Given the description of an element on the screen output the (x, y) to click on. 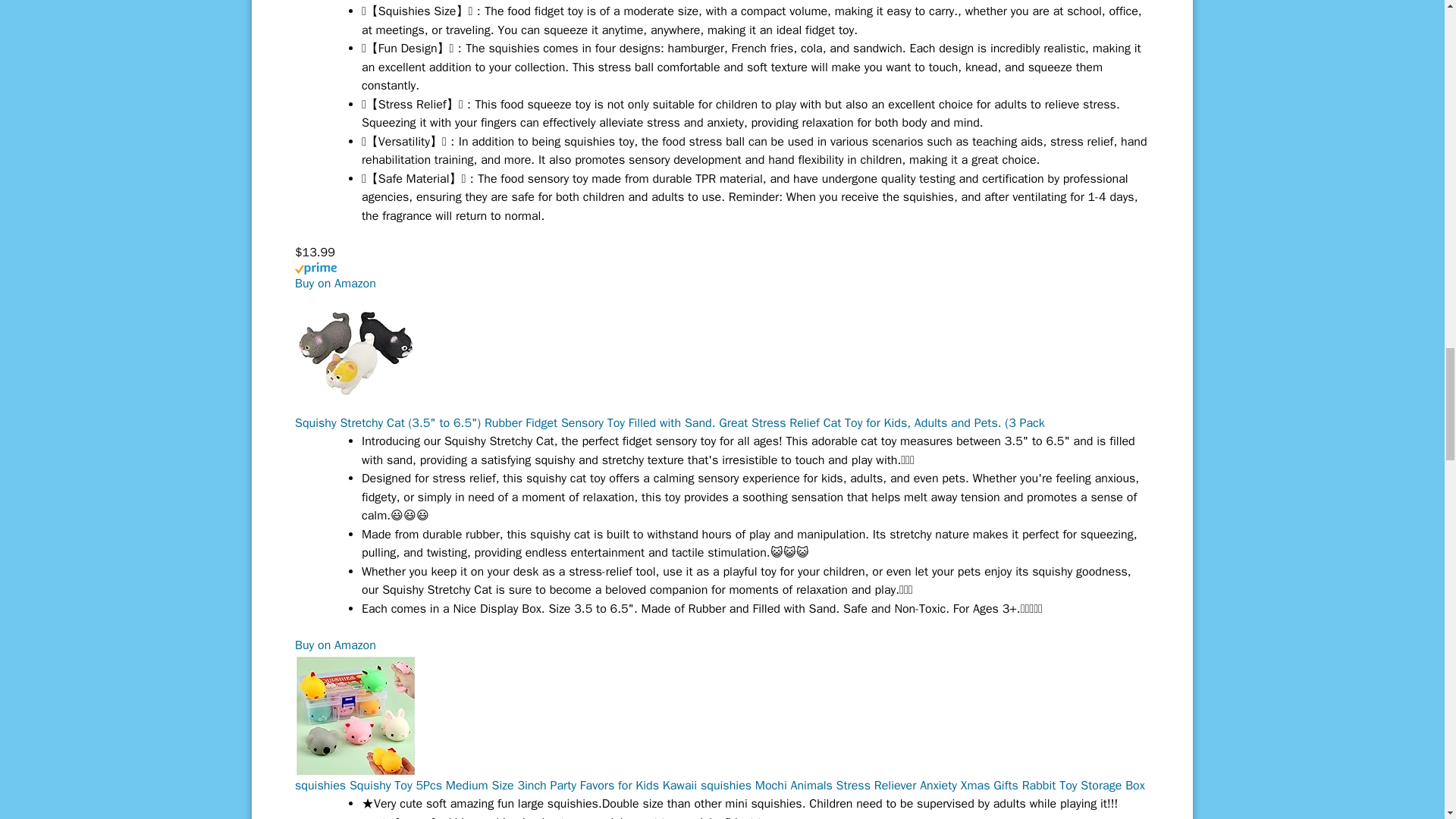
Buy on Amazon (335, 645)
Buy on Amazon (335, 283)
